Given the description of an element on the screen output the (x, y) to click on. 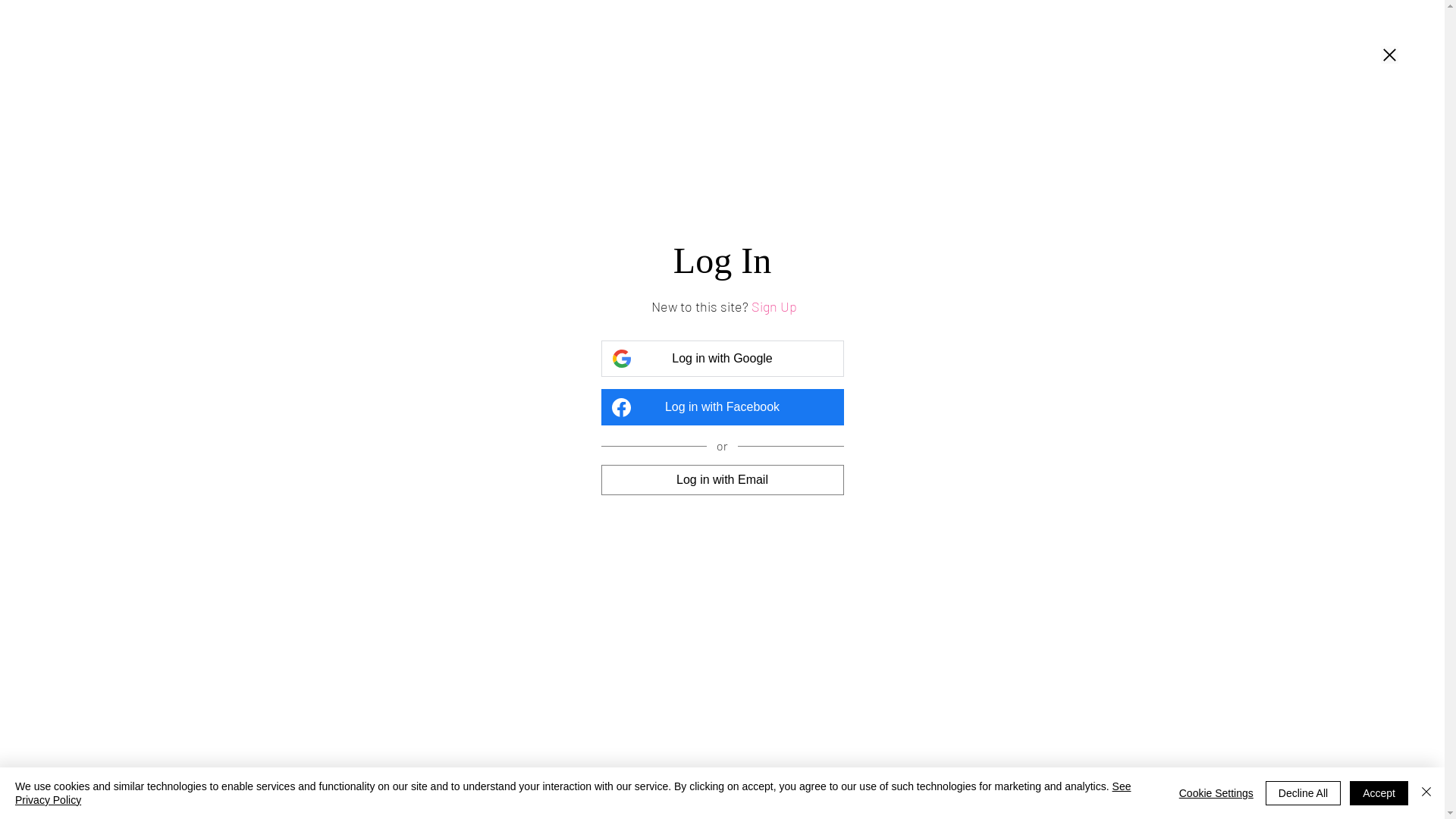
Accept Element type: text (1378, 793)
See Privacy Policy Element type: text (572, 793)
Decline All Element type: text (1302, 793)
Log in with Google Element type: text (721, 358)
Sign Up Element type: text (773, 306)
Log in with Facebook Element type: text (721, 407)
Log in with Email Element type: text (721, 479)
